Given the description of an element on the screen output the (x, y) to click on. 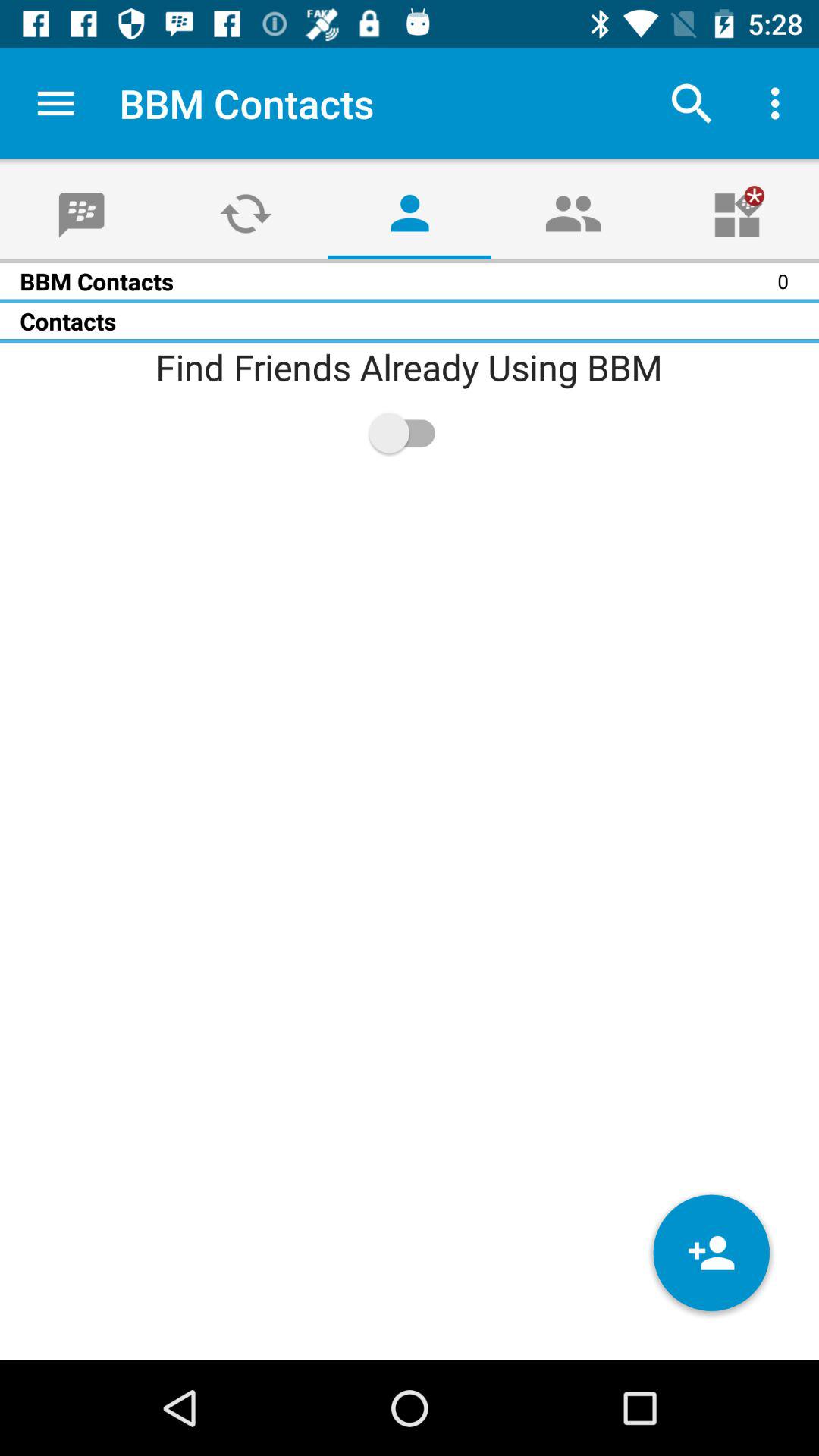
tap the icon at the bottom right corner (711, 1252)
